Given the description of an element on the screen output the (x, y) to click on. 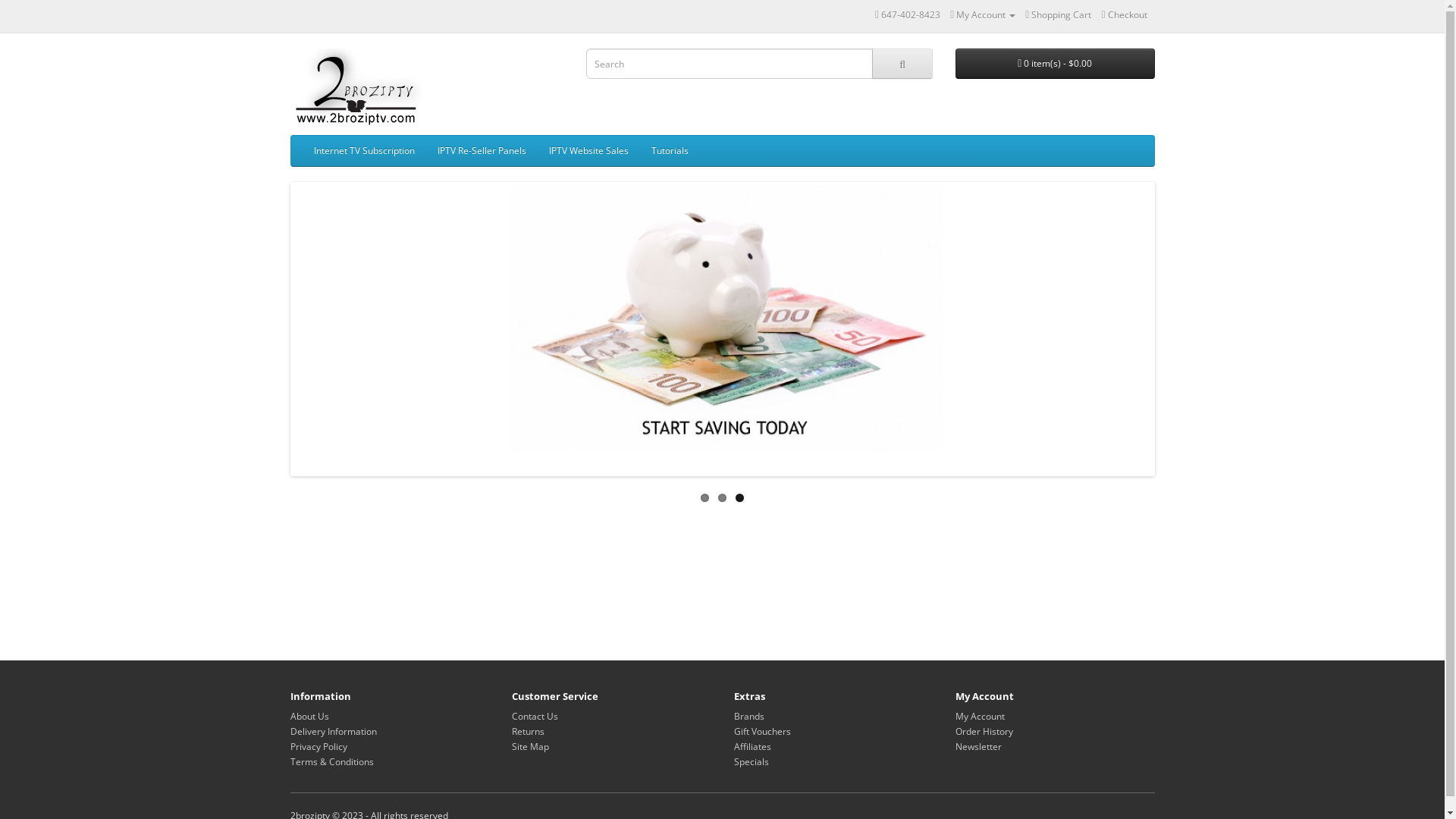
IPTV Website Sales Element type: text (587, 150)
Brands Element type: text (749, 715)
Returns Element type: text (527, 730)
Shopping Cart Element type: text (1058, 14)
Checkout Element type: text (1123, 14)
My Account Element type: text (979, 715)
Privacy Policy Element type: text (317, 746)
2broziptv Element type: hover (355, 87)
Delivery Information Element type: text (332, 730)
Contact Us Element type: text (534, 715)
Affiliates Element type: text (752, 746)
0 item(s) - $0.00 Element type: text (1054, 63)
IPTV Re-Seller Panels Element type: text (481, 150)
Newsletter Element type: text (978, 746)
Gift Vouchers Element type: text (762, 730)
Site Map Element type: text (530, 746)
Terms & Conditions Element type: text (331, 761)
Tutorials Element type: text (669, 150)
Order History Element type: text (984, 730)
About Us Element type: text (308, 715)
Specials Element type: text (751, 761)
My Account Element type: text (982, 14)
Internet TV Subscription Element type: text (363, 150)
